Given the description of an element on the screen output the (x, y) to click on. 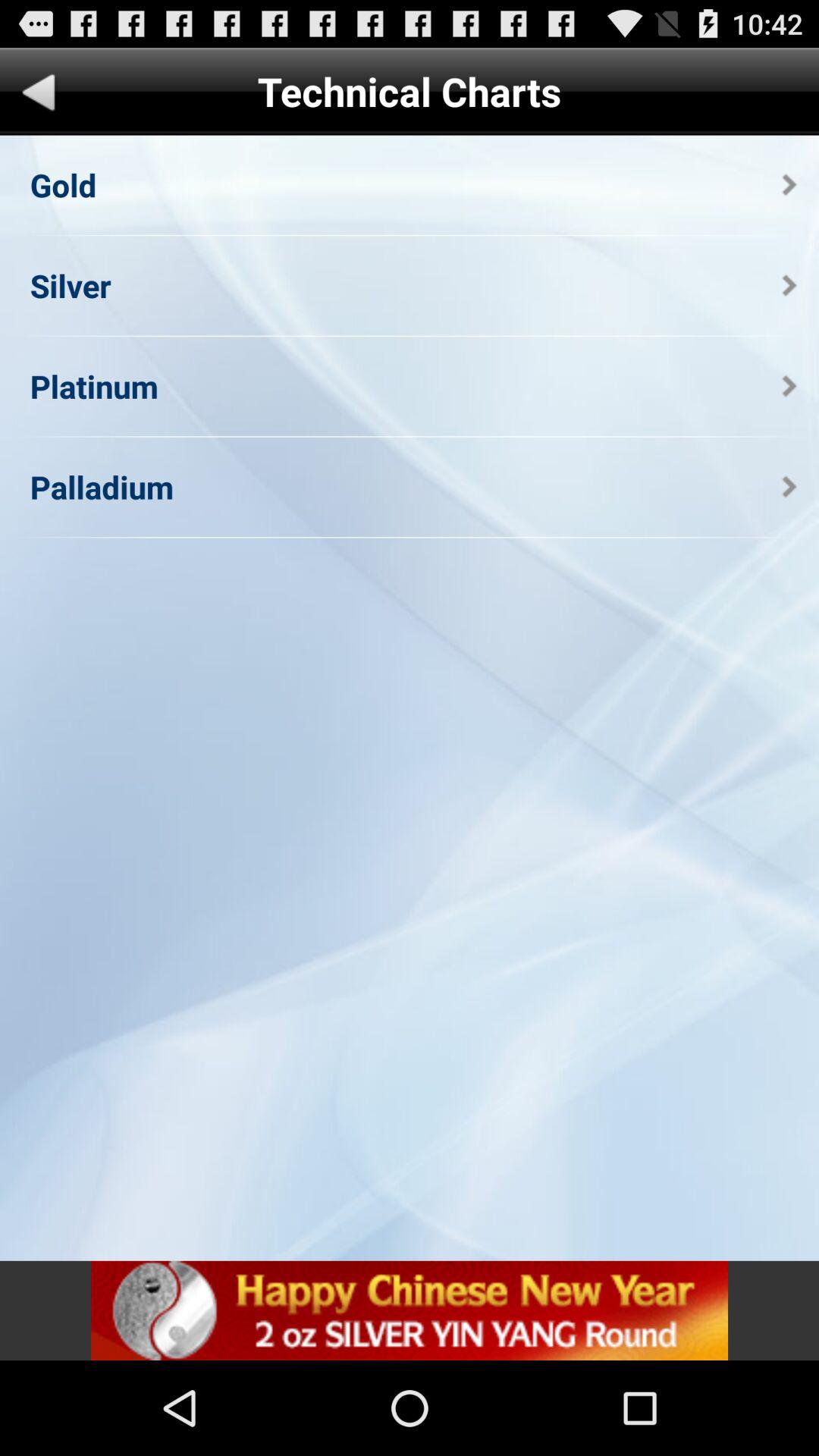
tap the app next to the gold app (789, 184)
